Given the description of an element on the screen output the (x, y) to click on. 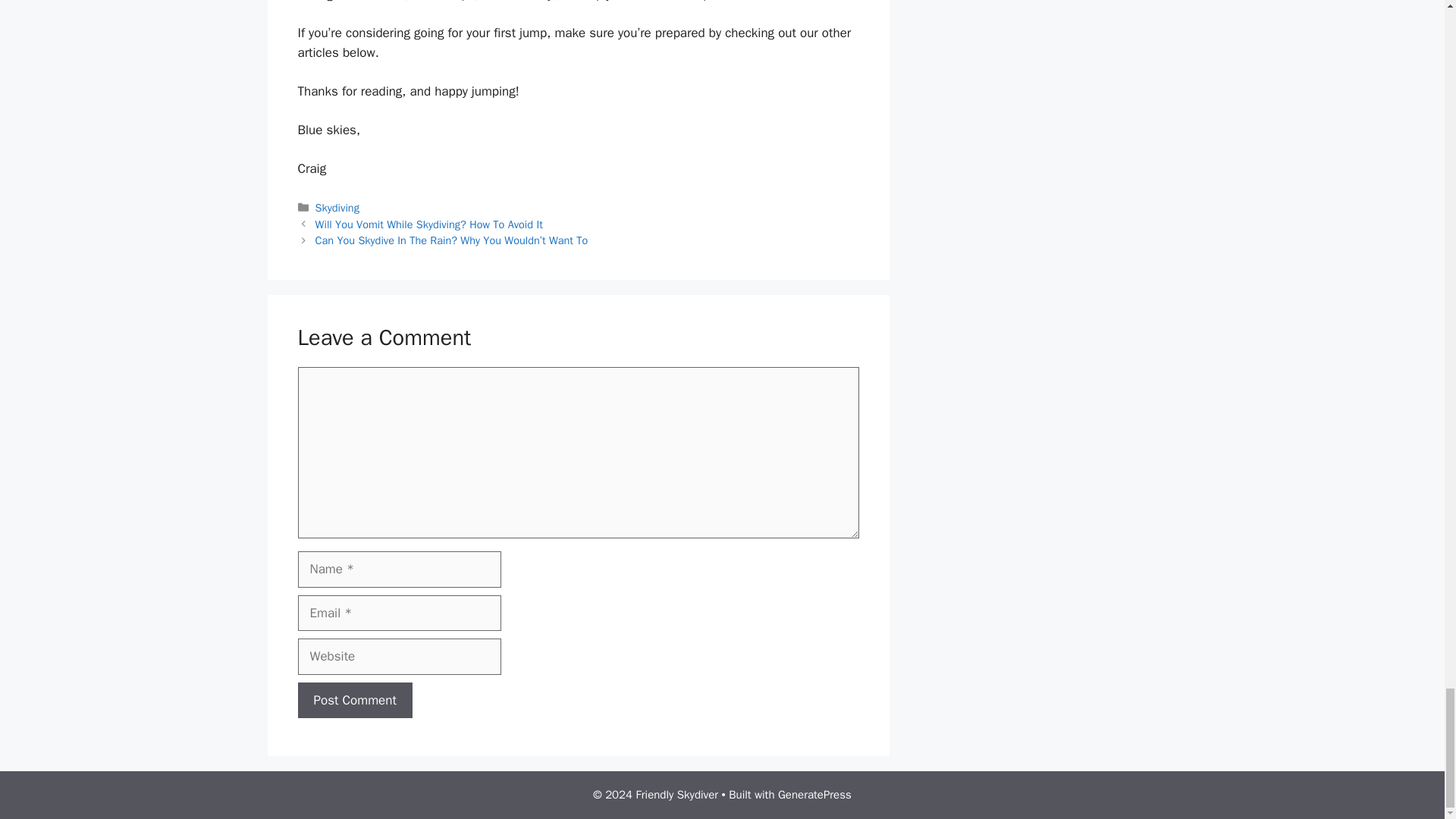
Post Comment (354, 700)
Will You Vomit While Skydiving? How To Avoid It (429, 223)
Next (451, 240)
Post Comment (354, 700)
Skydiving (337, 207)
Previous (429, 223)
